Given the description of an element on the screen output the (x, y) to click on. 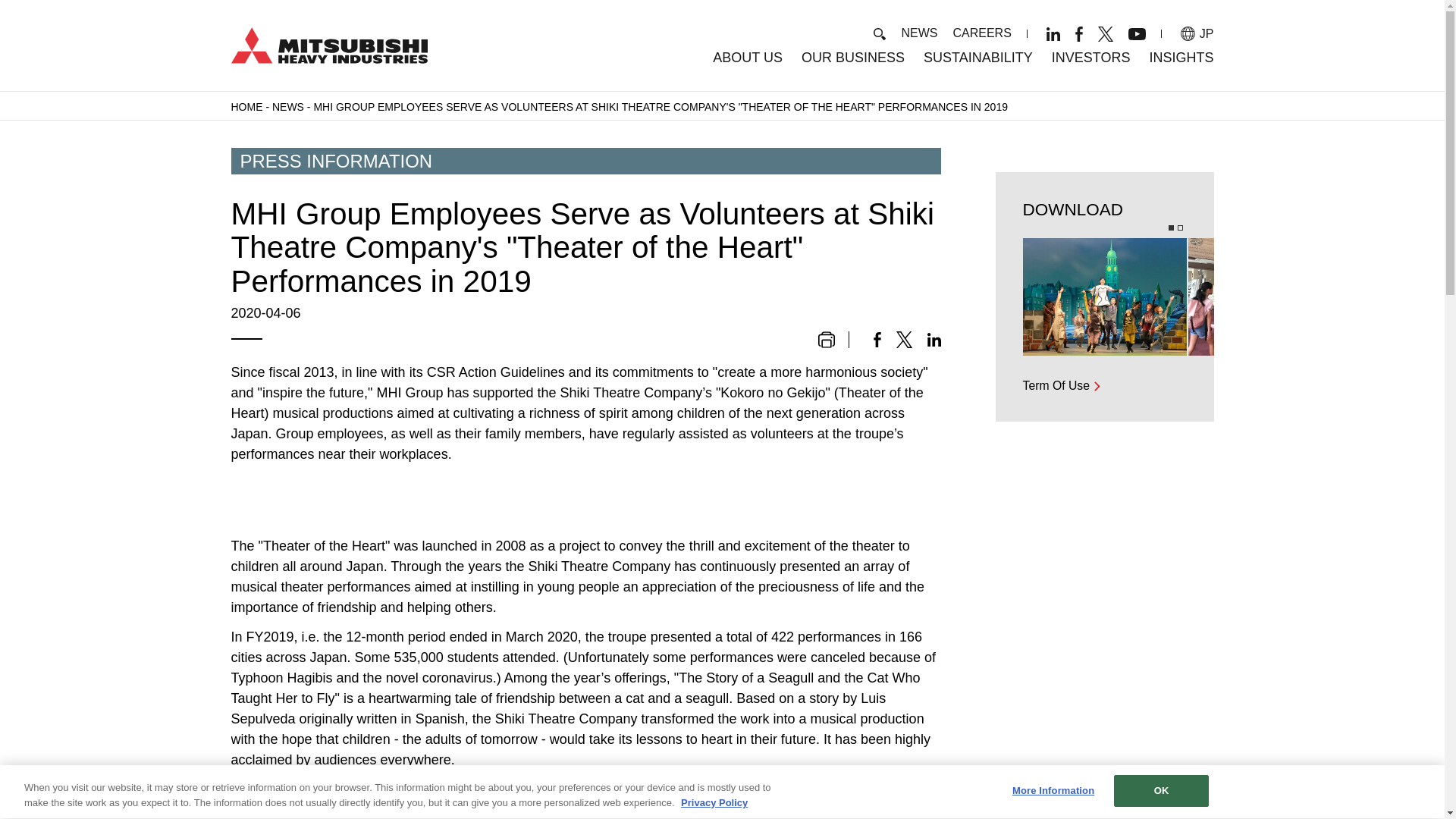
Home (328, 44)
CAREERS (981, 32)
JP (1197, 32)
ABOUT US (748, 57)
NEWS (919, 32)
